Given the description of an element on the screen output the (x, y) to click on. 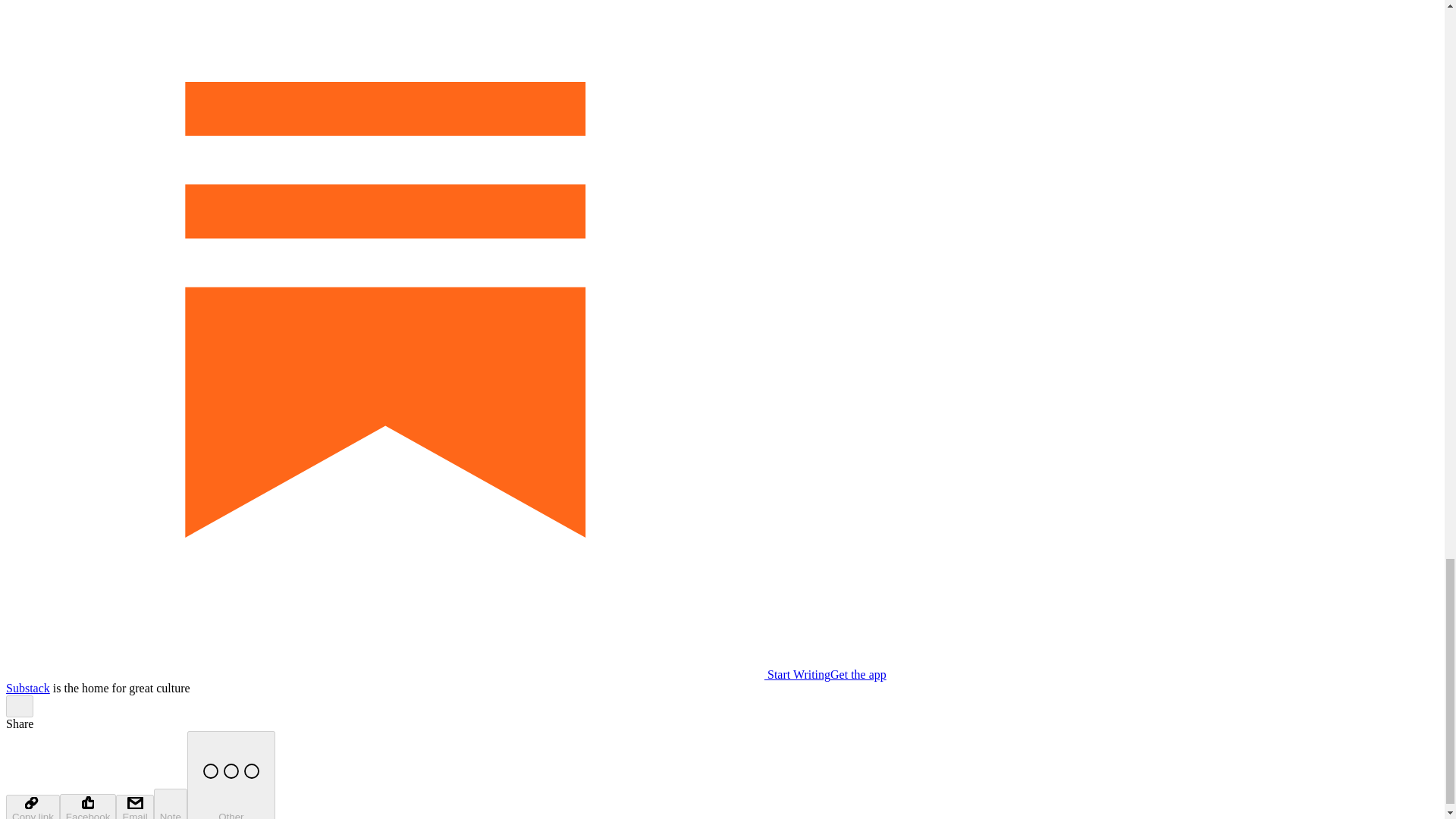
Start Writing (417, 674)
Substack (27, 687)
Get the app (857, 674)
